Given the description of an element on the screen output the (x, y) to click on. 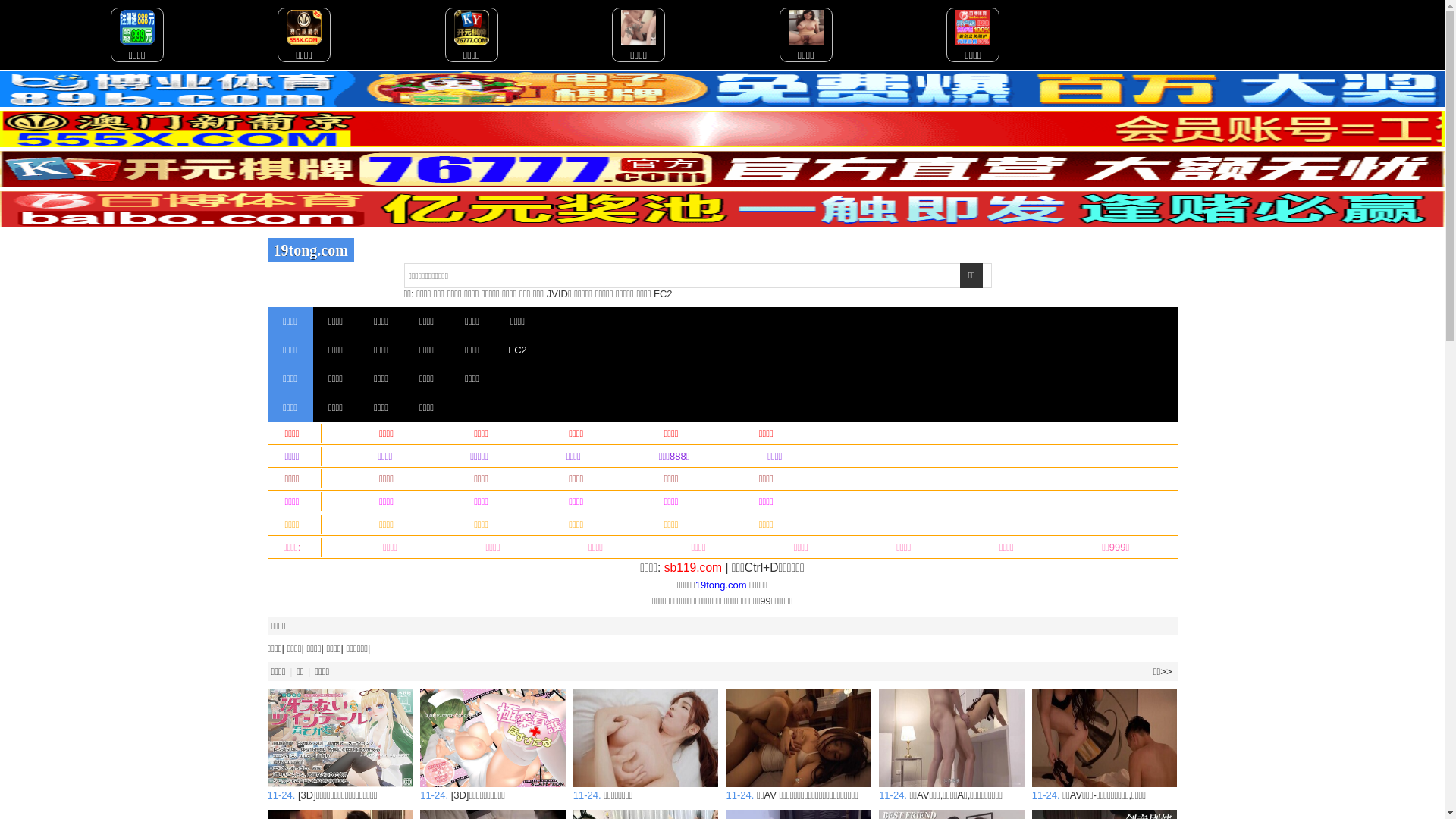
JVID Element type: text (556, 293)
FC2 Element type: text (516, 349)
FC2 Element type: text (662, 293)
19tong.com Element type: text (309, 250)
